Given the description of an element on the screen output the (x, y) to click on. 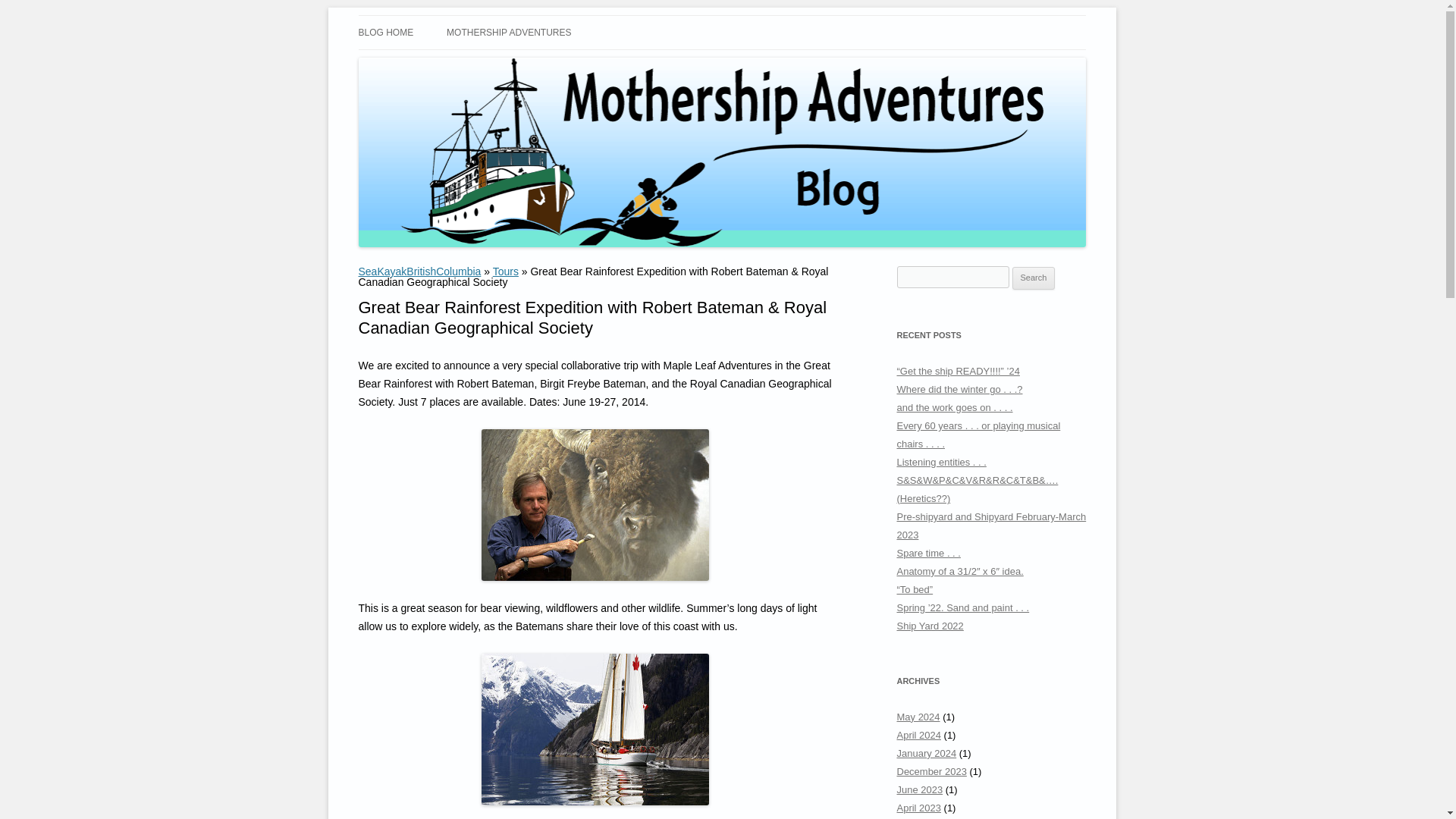
January 2024 (926, 753)
and the work goes on . . . . (953, 407)
Search (1033, 277)
Every 60 years . . . or playing musical chairs . . . . (977, 434)
MOTHERSHIP ADVENTURES (508, 32)
Tours (505, 271)
Sea Kayaking in British Columbia (514, 33)
December 2023 (931, 771)
Listening entities . . . (940, 461)
May 2024 (917, 716)
